Given the description of an element on the screen output the (x, y) to click on. 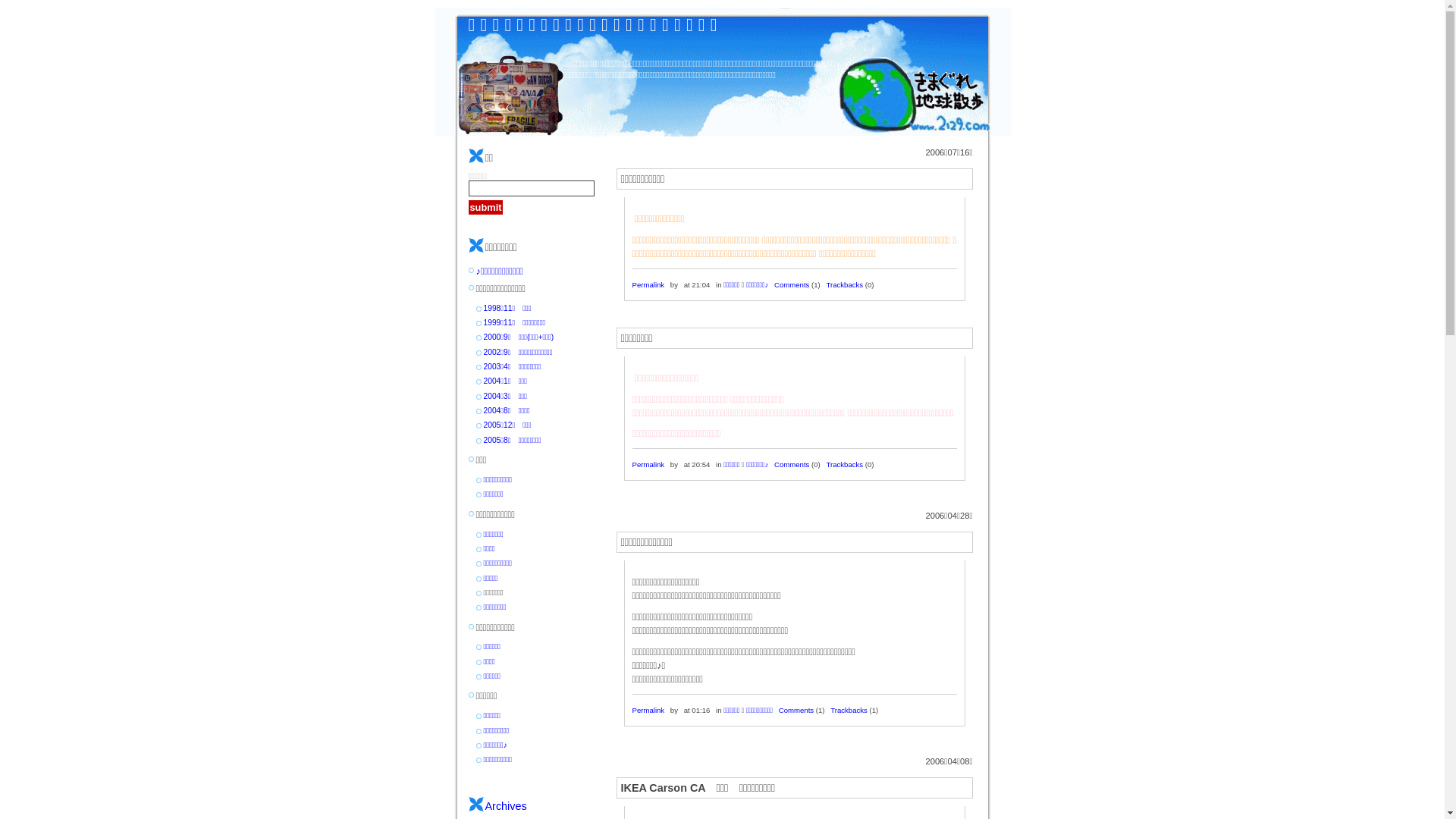
Archives Element type: text (506, 806)
Comments Element type: text (791, 284)
Comments Element type: text (791, 464)
Permalink Element type: text (648, 464)
Permalink Element type: text (648, 710)
Trackbacks Element type: text (843, 284)
Trackbacks Element type: text (848, 710)
Permalink Element type: text (648, 284)
submit Element type: text (485, 207)
Comments Element type: text (795, 710)
Trackbacks Element type: text (843, 464)
